Given the description of an element on the screen output the (x, y) to click on. 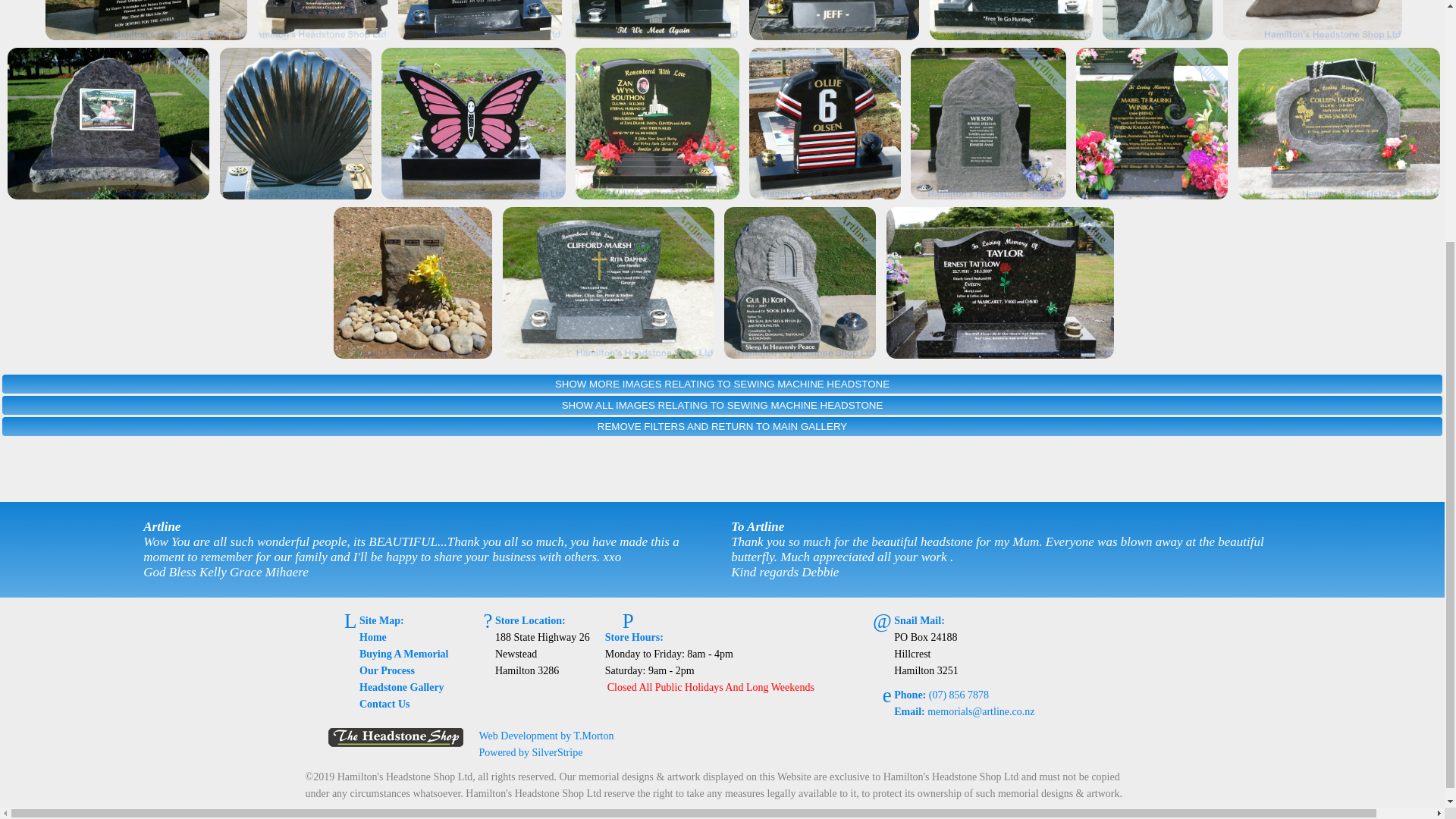
SHOW MORE IMAGES RELATING TO SEWING MACHINE HEADSTONE (722, 383)
Buying A Memorial (403, 654)
Our Process (386, 670)
SHOW ALL IMAGES RELATING TO SEWING MACHINE HEADSTONE (722, 404)
REMOVE FILTERS AND RETURN TO MAIN GALLERY (722, 425)
Home (373, 636)
